Given the description of an element on the screen output the (x, y) to click on. 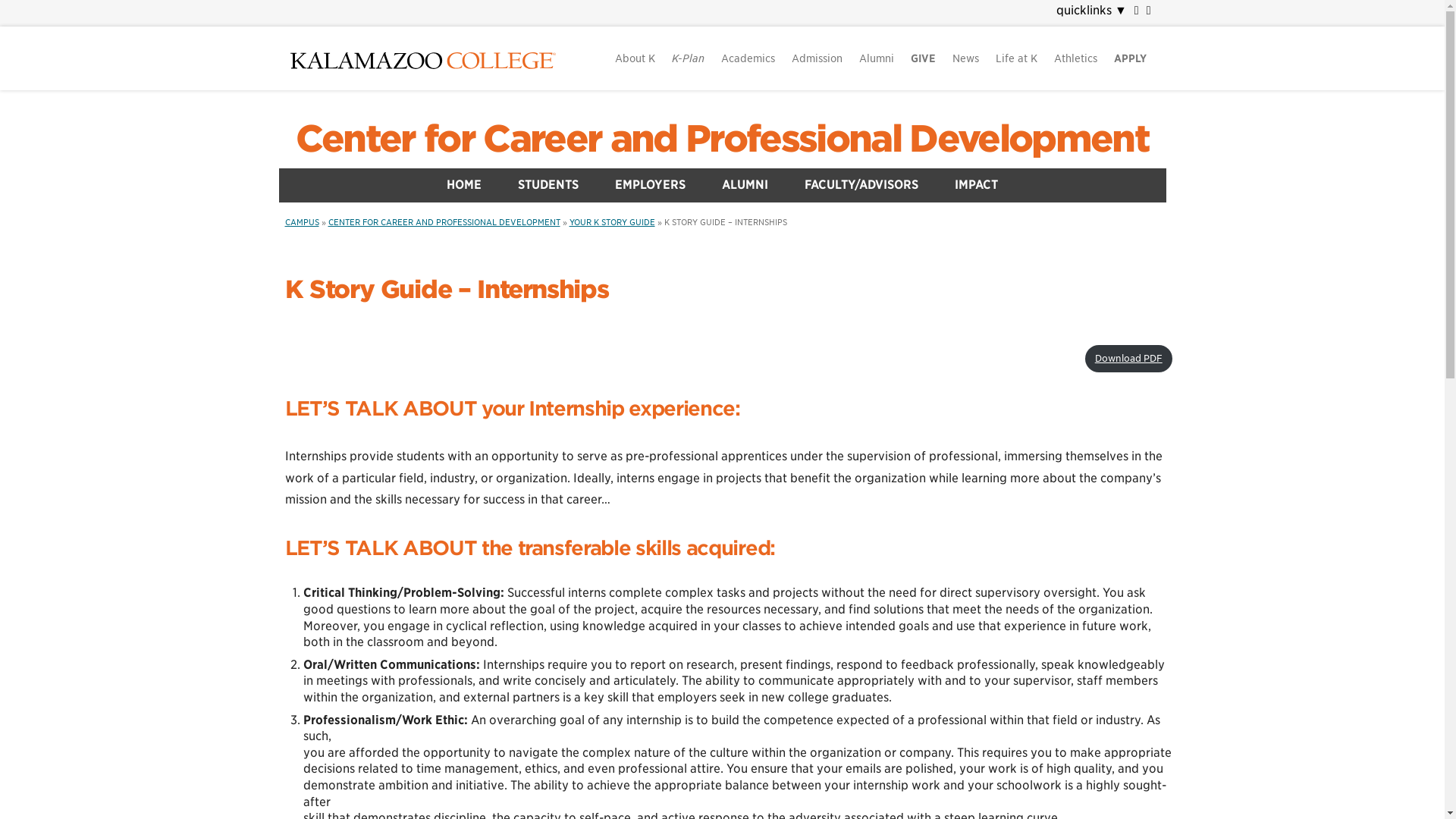
Hornet Athletics (1075, 58)
Give to Kalamazoo College (922, 58)
Apply to attend Kalamazoo College (1129, 58)
navigate to site (1004, 11)
